Given the description of an element on the screen output the (x, y) to click on. 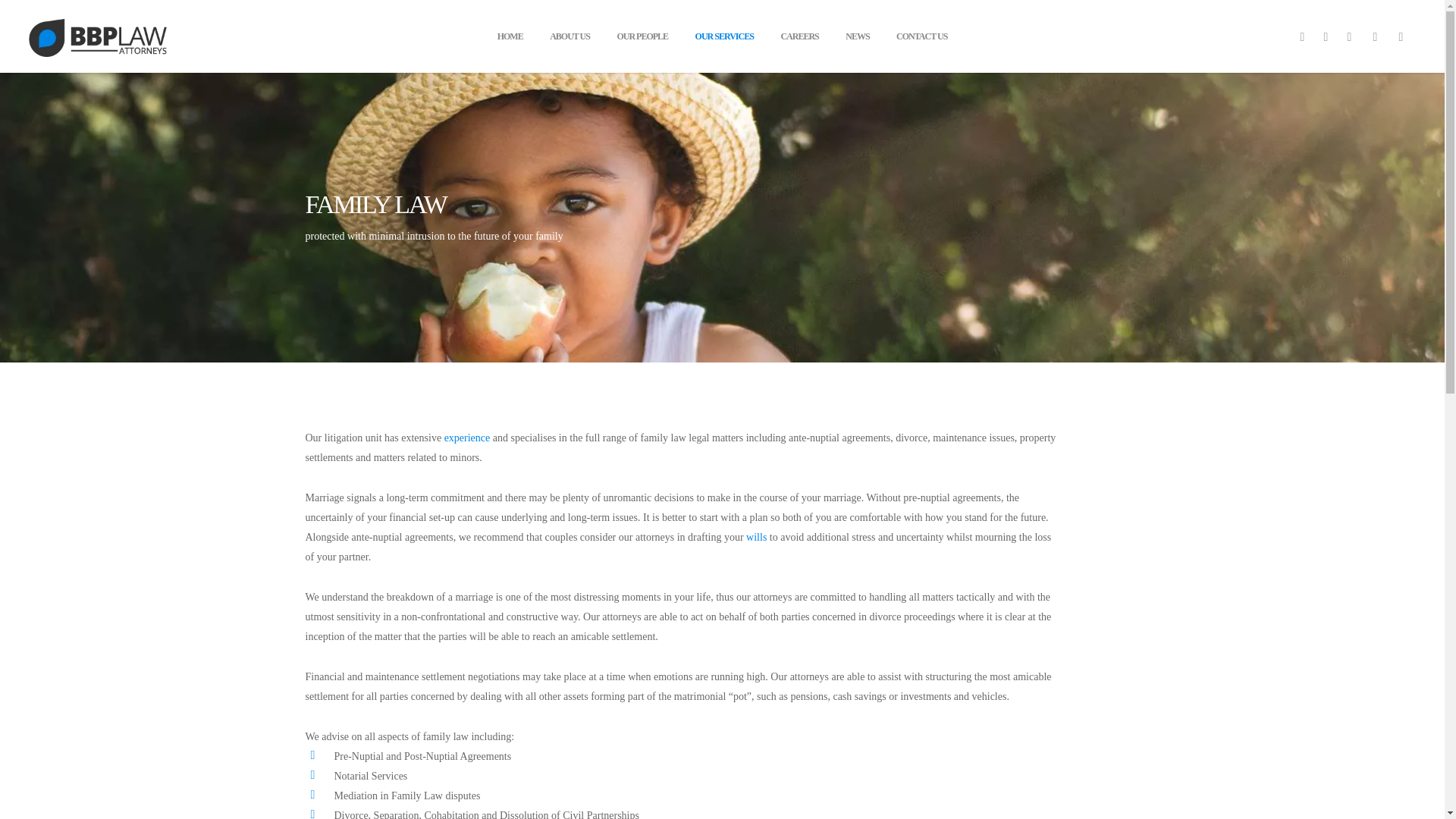
OUR PEOPLE (642, 41)
OUR SERVICES (724, 41)
ABOUT US (569, 41)
